Given the description of an element on the screen output the (x, y) to click on. 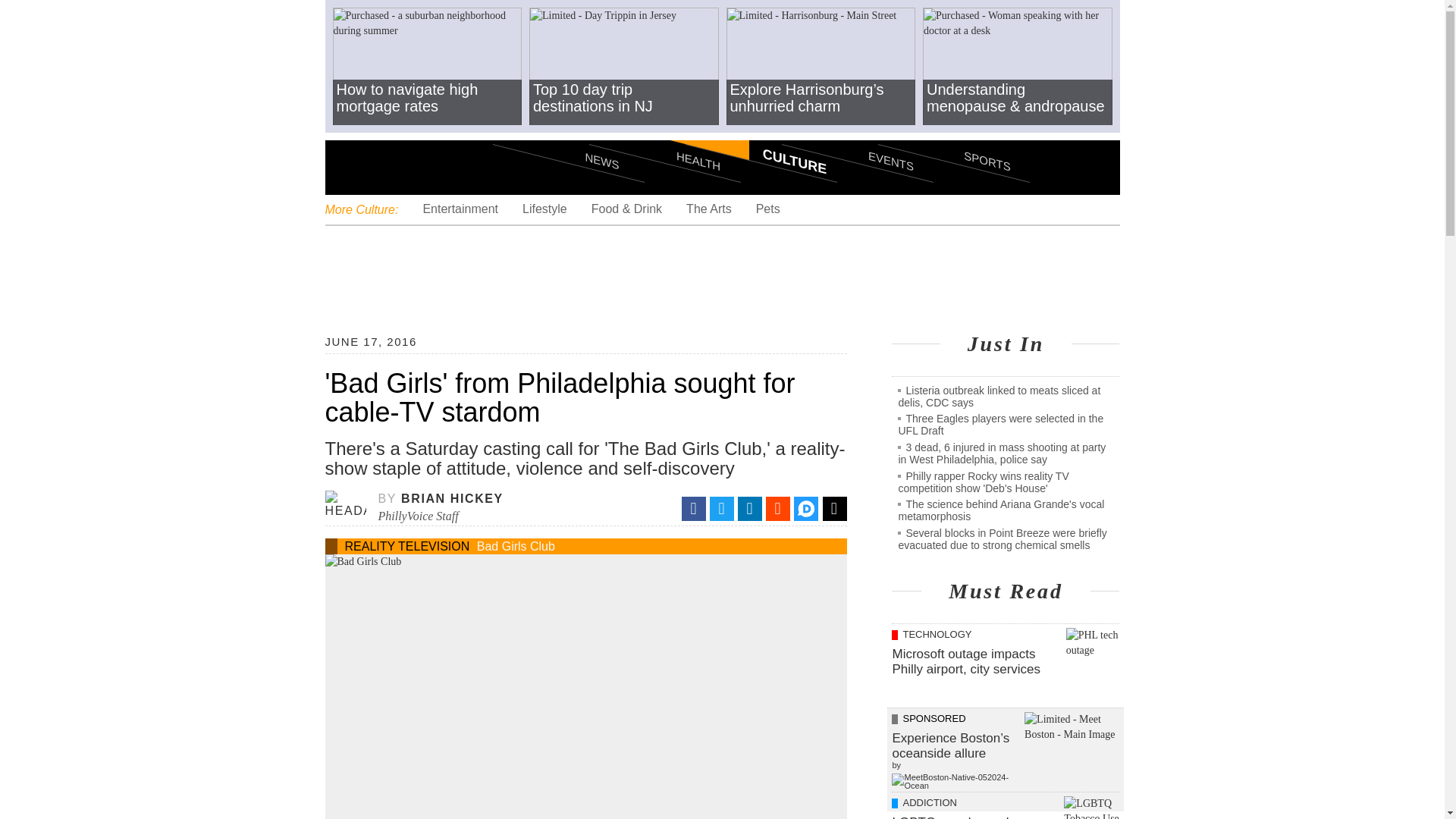
PhillyVoice (428, 166)
LinkedIn (749, 508)
SPORTS (953, 132)
Email (833, 508)
NEWS (569, 132)
Menu (348, 167)
Twitter (721, 508)
CULTURE (761, 132)
Top 10 day trip destinations in NJ (624, 67)
HEALTH (663, 132)
Facebook (693, 508)
How to navigate high mortgage rates (426, 67)
EVENTS (856, 132)
Reddit (777, 508)
